Given the description of an element on the screen output the (x, y) to click on. 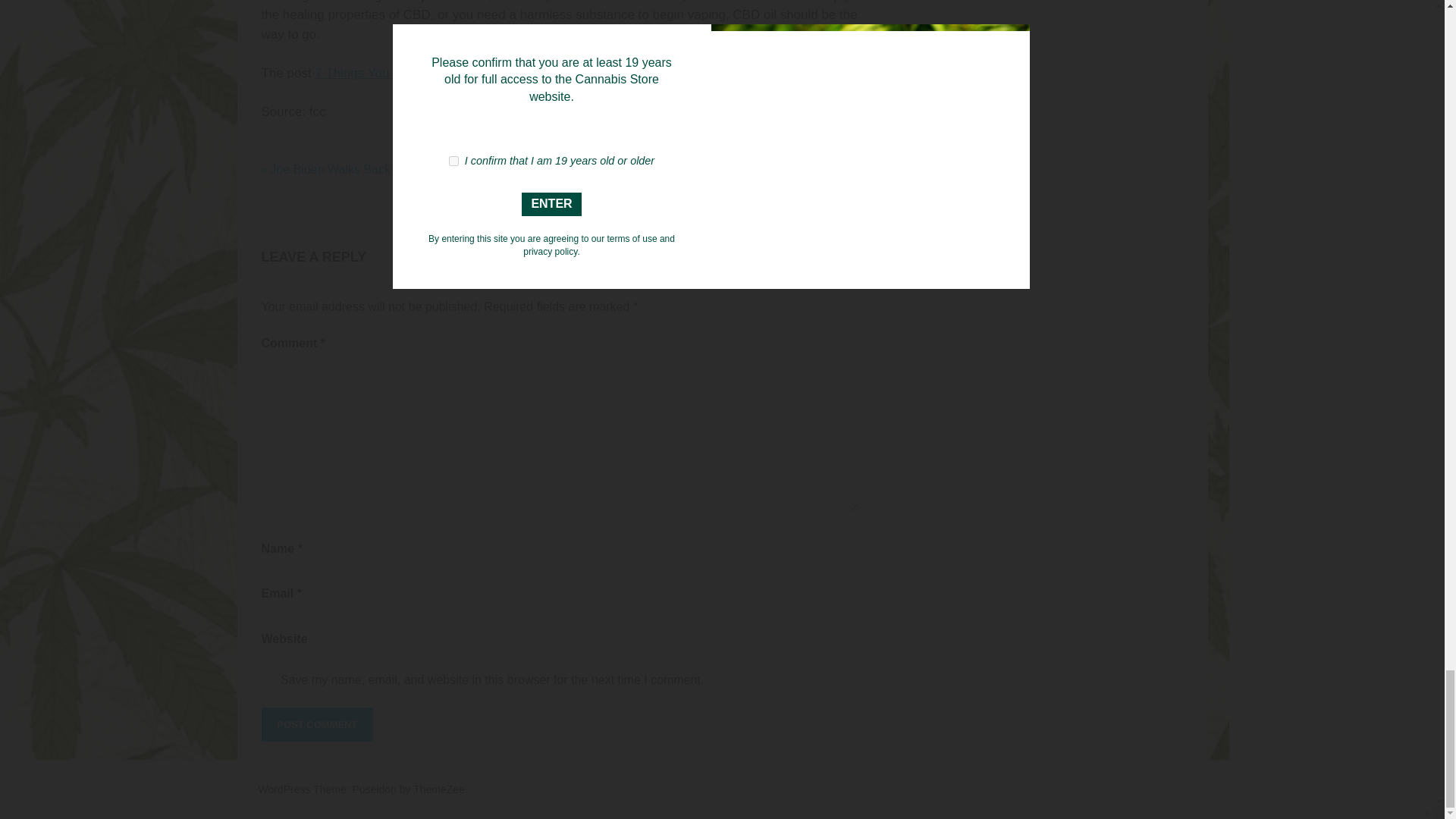
FairCannaCare (755, 73)
7 Things You Need to Know Before Vaping CBD Oil (461, 73)
Post Comment (316, 724)
yes (265, 678)
Post Comment (316, 724)
